Given the description of an element on the screen output the (x, y) to click on. 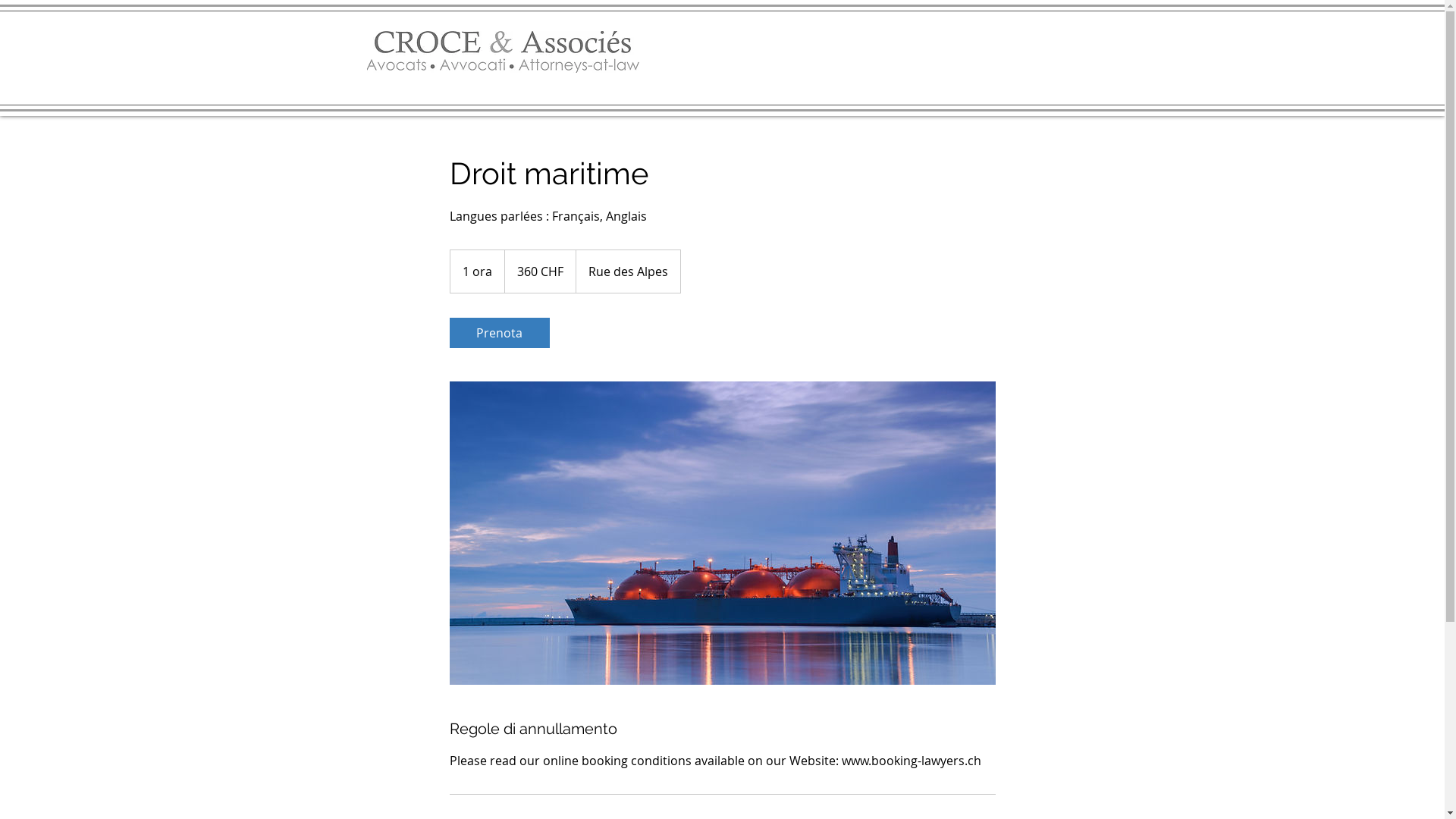
Prenota Element type: text (498, 332)
